Given the description of an element on the screen output the (x, y) to click on. 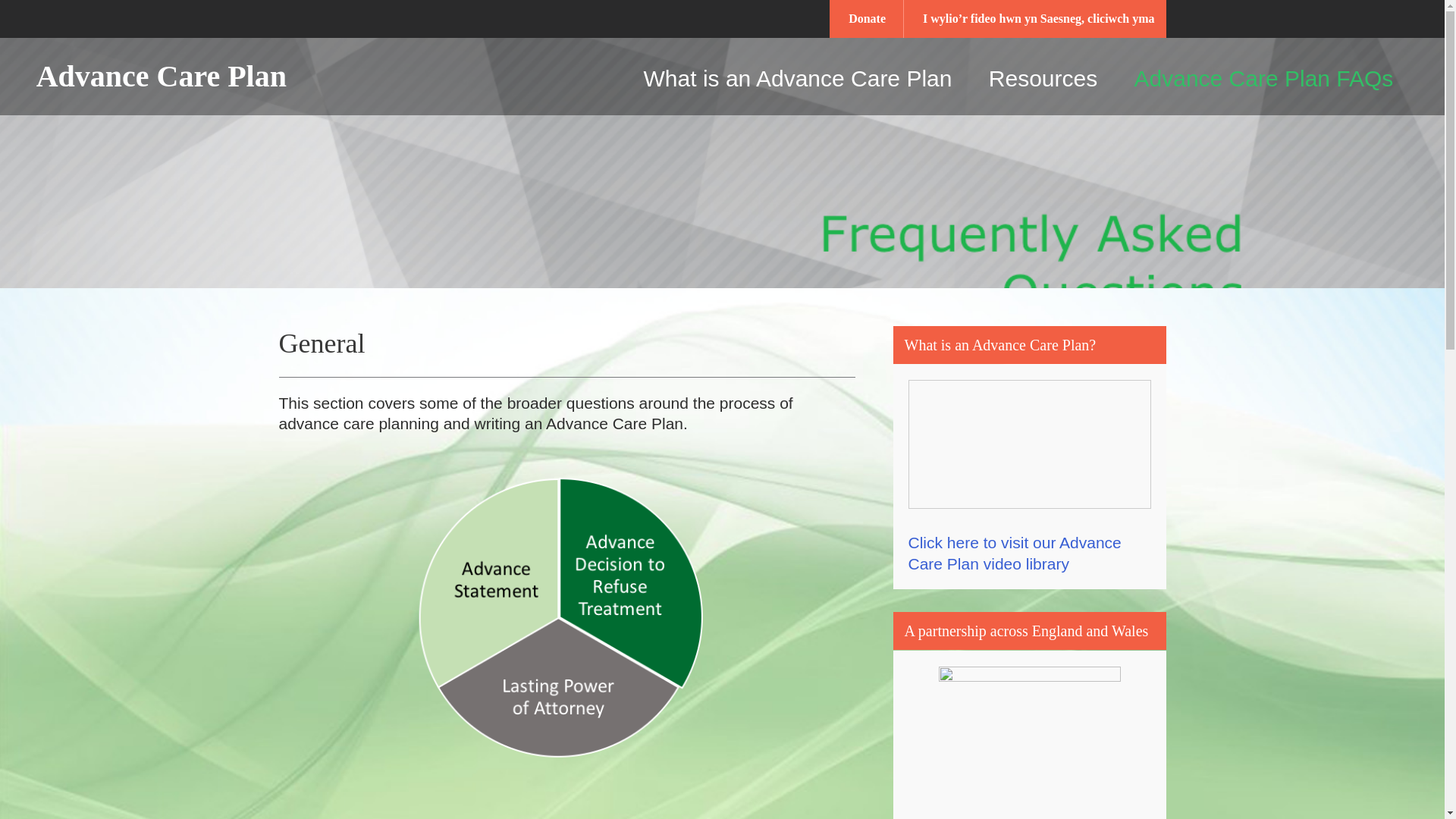
Donate (866, 18)
What is an Advance Care Plan (798, 78)
Advance Care Plan FAQs (1264, 78)
Advance Care Plan (168, 76)
Resources (1043, 78)
